Given the description of an element on the screen output the (x, y) to click on. 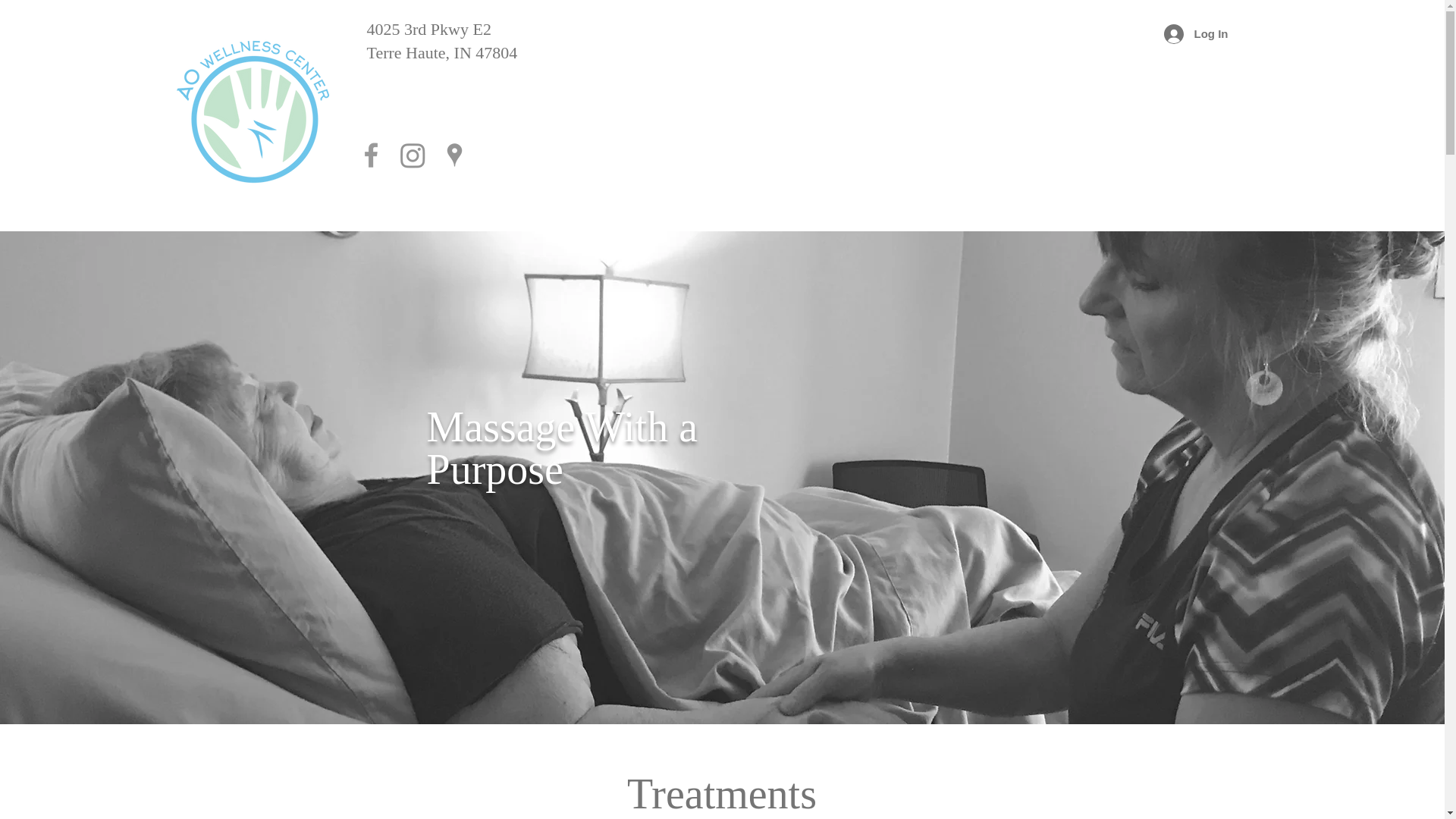
Log In (1196, 33)
